Given the description of an element on the screen output the (x, y) to click on. 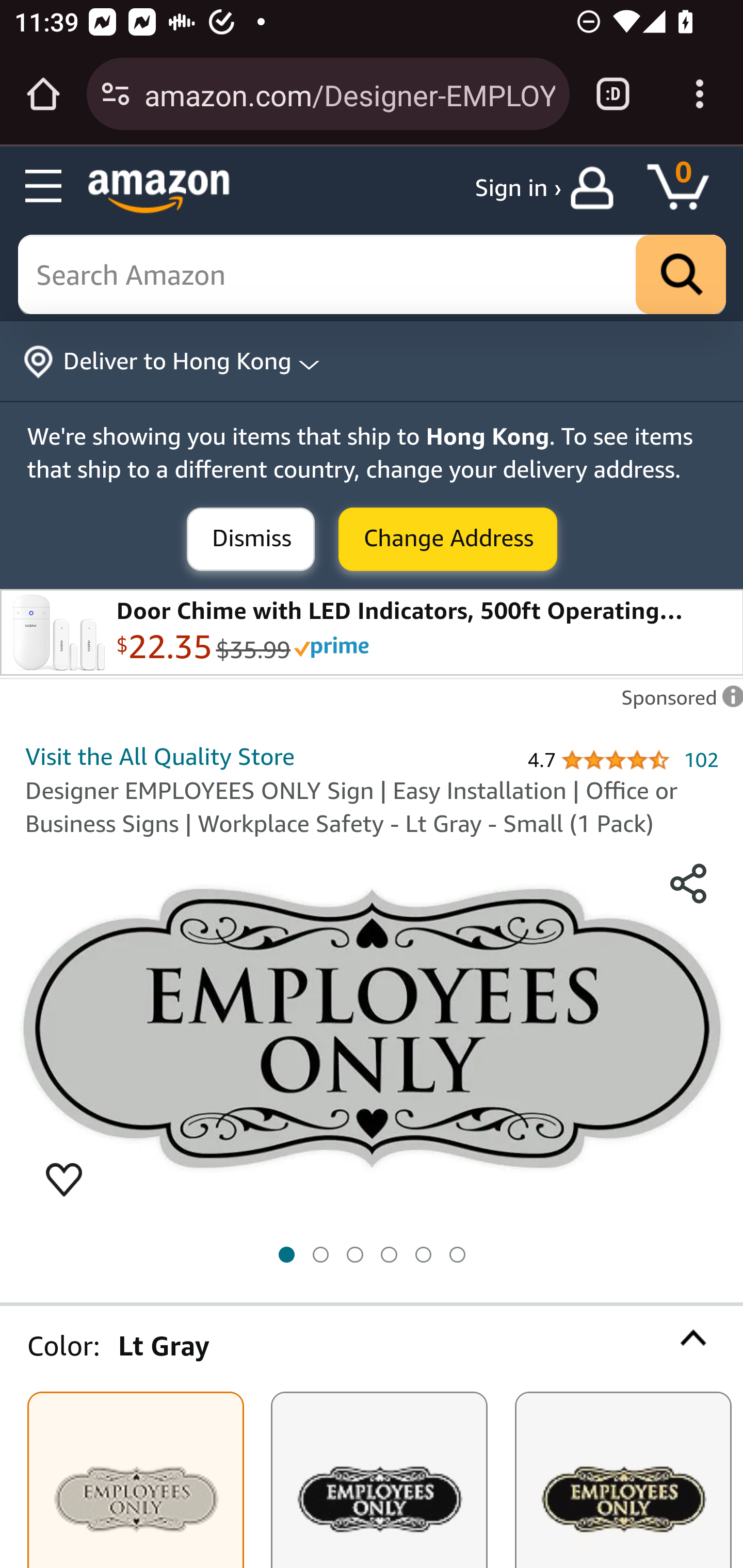
Open the home page (43, 93)
Connection is secure (115, 93)
Switch or close tabs (612, 93)
Customize and control Google Chrome (699, 93)
Open Menu (44, 187)
Sign in › (518, 188)
your account (596, 188)
Cart 0 (687, 188)
Amazon (158, 191)
Go (681, 275)
Submit (250, 539)
Submit (447, 539)
Visit the All Quality Store (160, 755)
Heart to save an item to your default list (63, 1177)
Lt Gray (134, 1480)
Black (379, 1480)
Black / Gold (622, 1480)
